Given the description of an element on the screen output the (x, y) to click on. 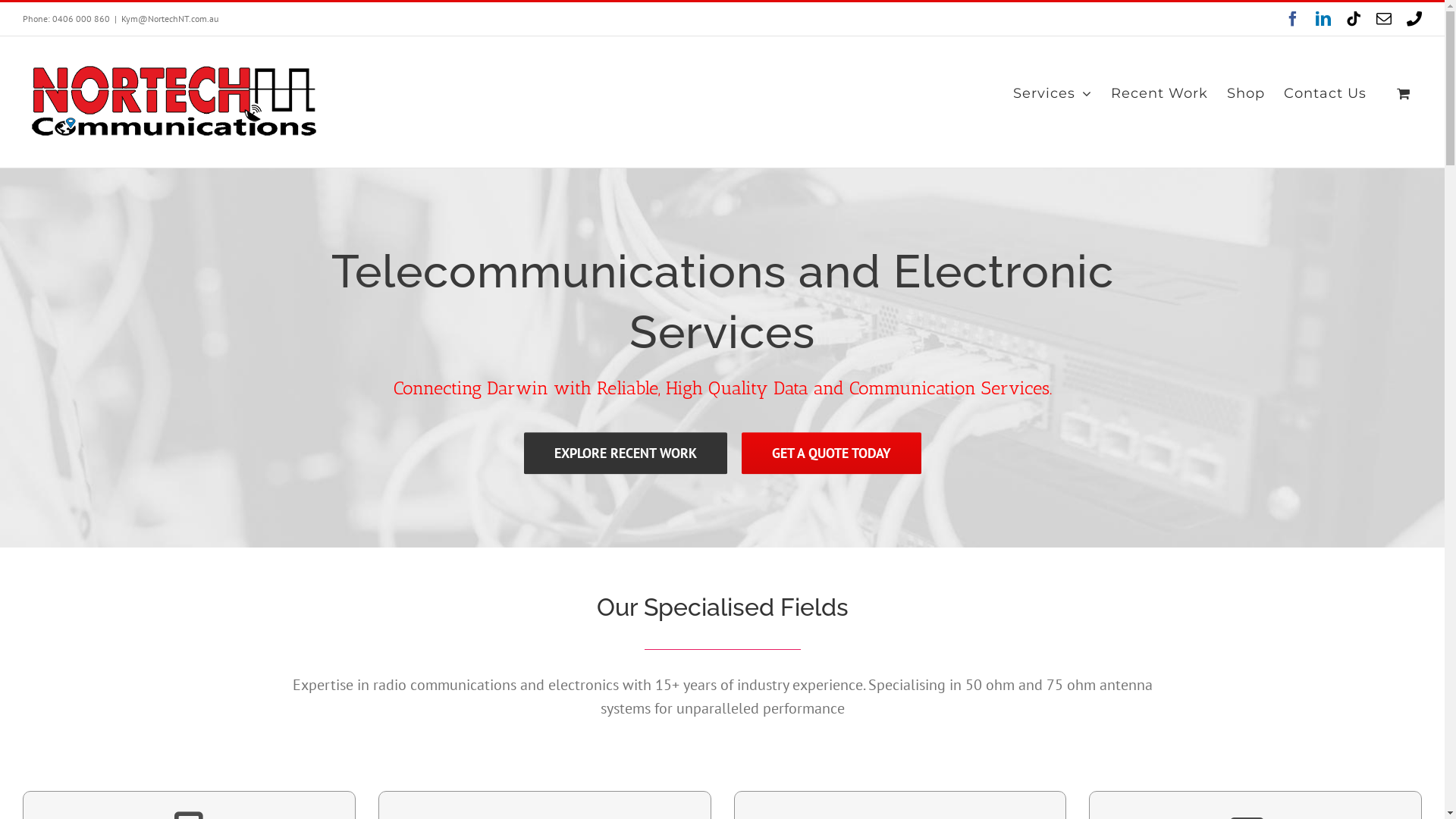
Recent Work Element type: text (1159, 93)
Contact Us Element type: text (1324, 93)
Facebook Element type: text (1292, 18)
Services Element type: text (1052, 93)
Email Element type: text (1383, 18)
LinkedIn Element type: text (1322, 18)
EXPLORE RECENT WORK Element type: text (624, 452)
Phone Element type: text (1413, 18)
Shop Element type: text (1245, 93)
Kym@NortechNT.com.au Element type: text (169, 18)
Tiktok Element type: text (1353, 18)
GET A QUOTE TODAY Element type: text (831, 452)
